Given the description of an element on the screen output the (x, y) to click on. 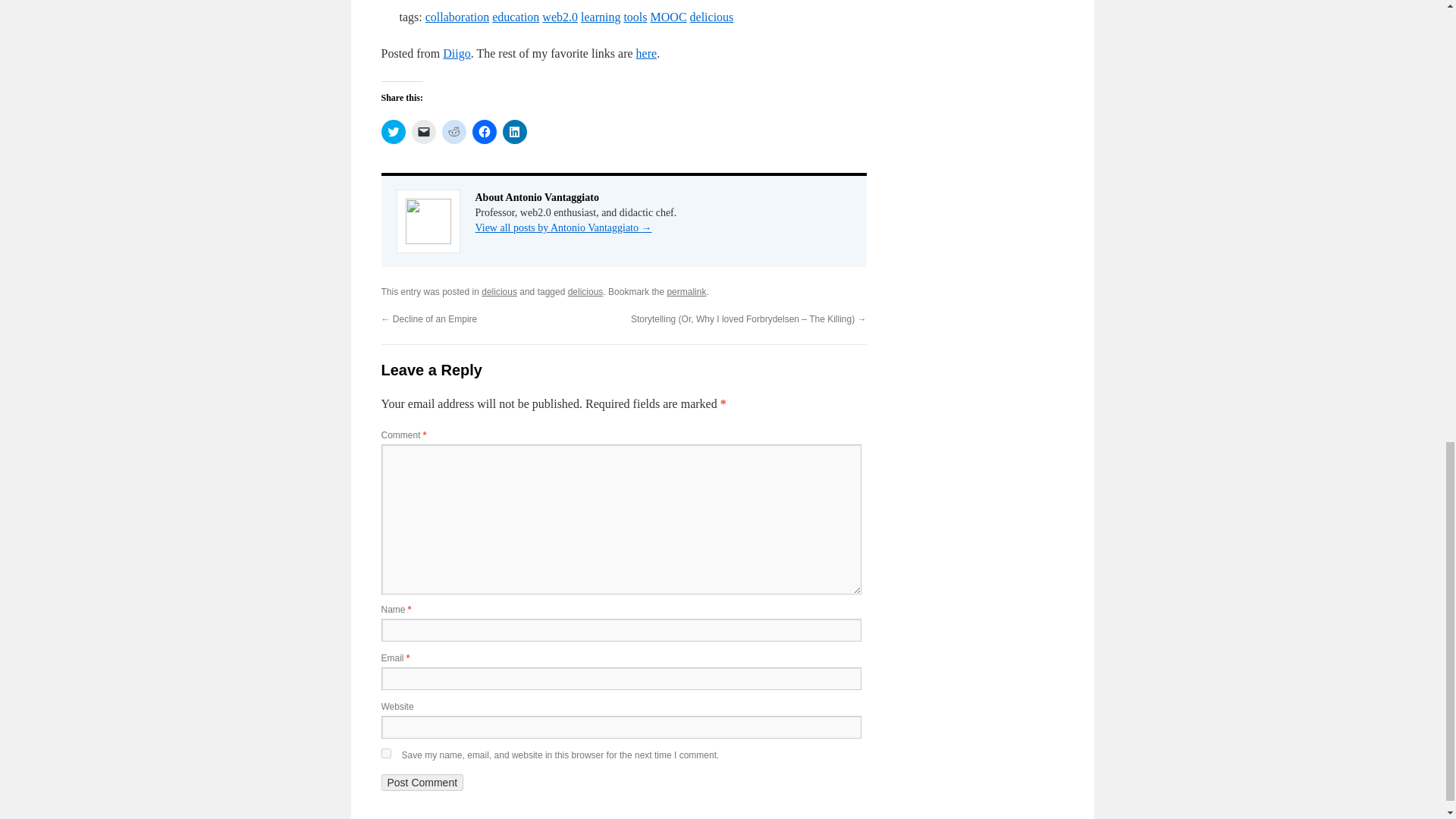
Click to share on LinkedIn (513, 131)
yes (385, 753)
Permalink to delicious Zeitgeist 26 Sep 2011 (686, 291)
Click to share on Twitter (392, 131)
Post Comment (421, 782)
Click to share on Facebook (483, 131)
Click to email a link to a friend (422, 131)
Click to share on Reddit (453, 131)
